Given the description of an element on the screen output the (x, y) to click on. 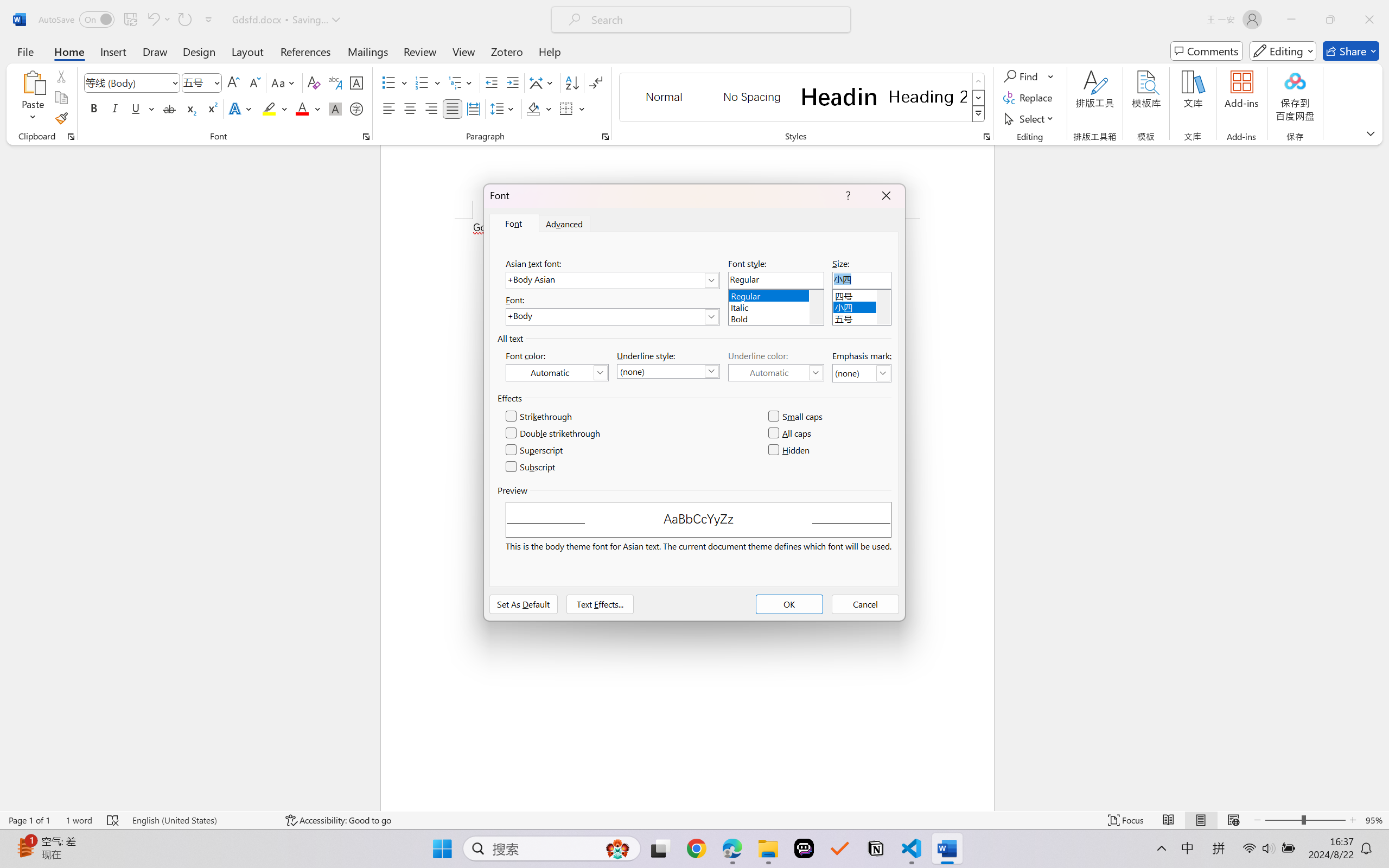
Asian text font: (612, 280)
Change Case (284, 82)
Sort... (571, 82)
Subscript (530, 466)
Styles... (986, 136)
Format Painter (60, 118)
